Given the description of an element on the screen output the (x, y) to click on. 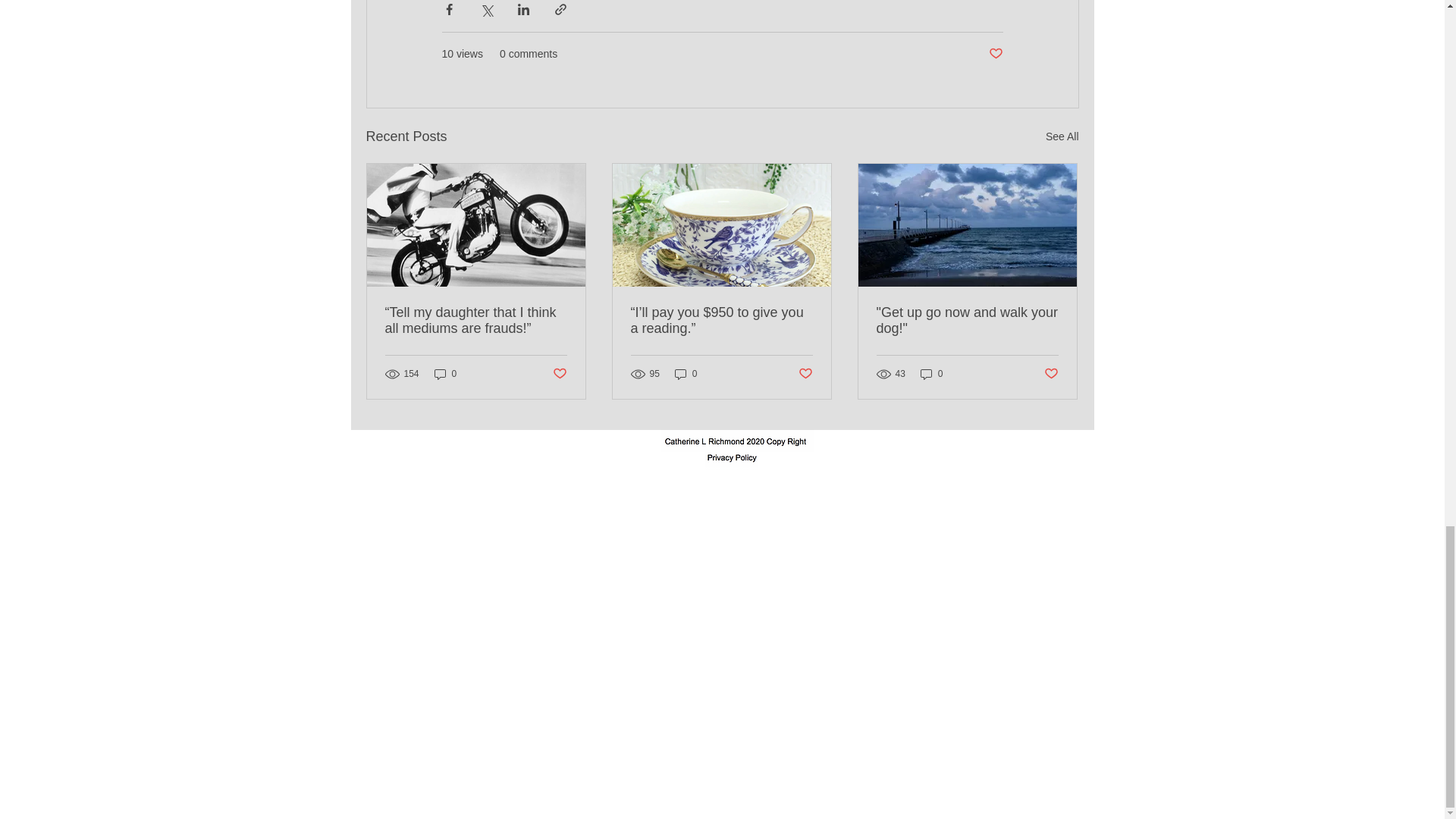
0 (445, 373)
Post not marked as liked (1050, 374)
0 (931, 373)
See All (1061, 137)
Post not marked as liked (558, 374)
Post not marked as liked (804, 374)
Post not marked as liked (995, 53)
"Get up go now and walk your dog!" (967, 320)
0 (685, 373)
